Given the description of an element on the screen output the (x, y) to click on. 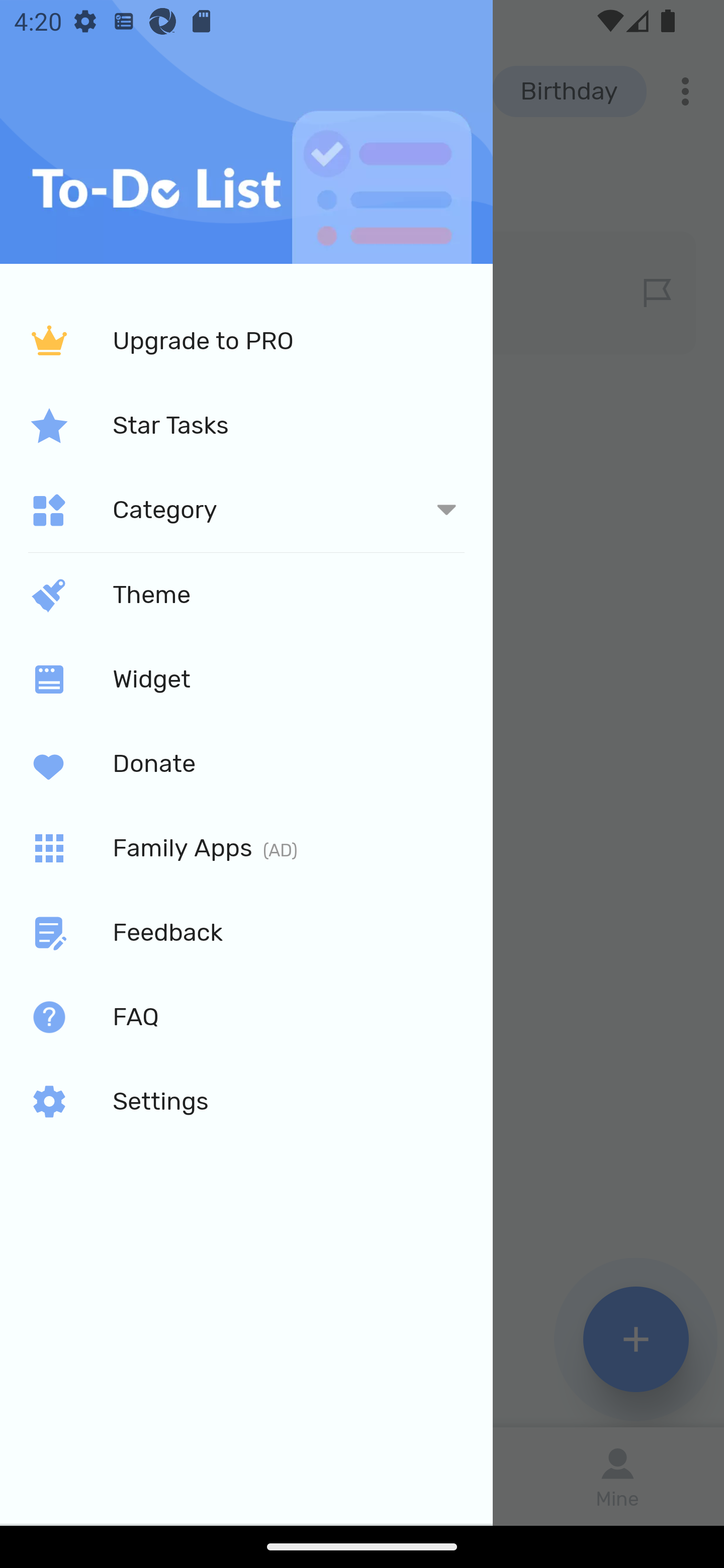
Upgrade to PRO (246, 341)
Star Tasks (246, 425)
Theme (246, 593)
Widget (246, 678)
Donate (246, 763)
Family Apps  (AD) (246, 847)
Feedback (246, 932)
FAQ (246, 1017)
Settings (246, 1101)
